Given the description of an element on the screen output the (x, y) to click on. 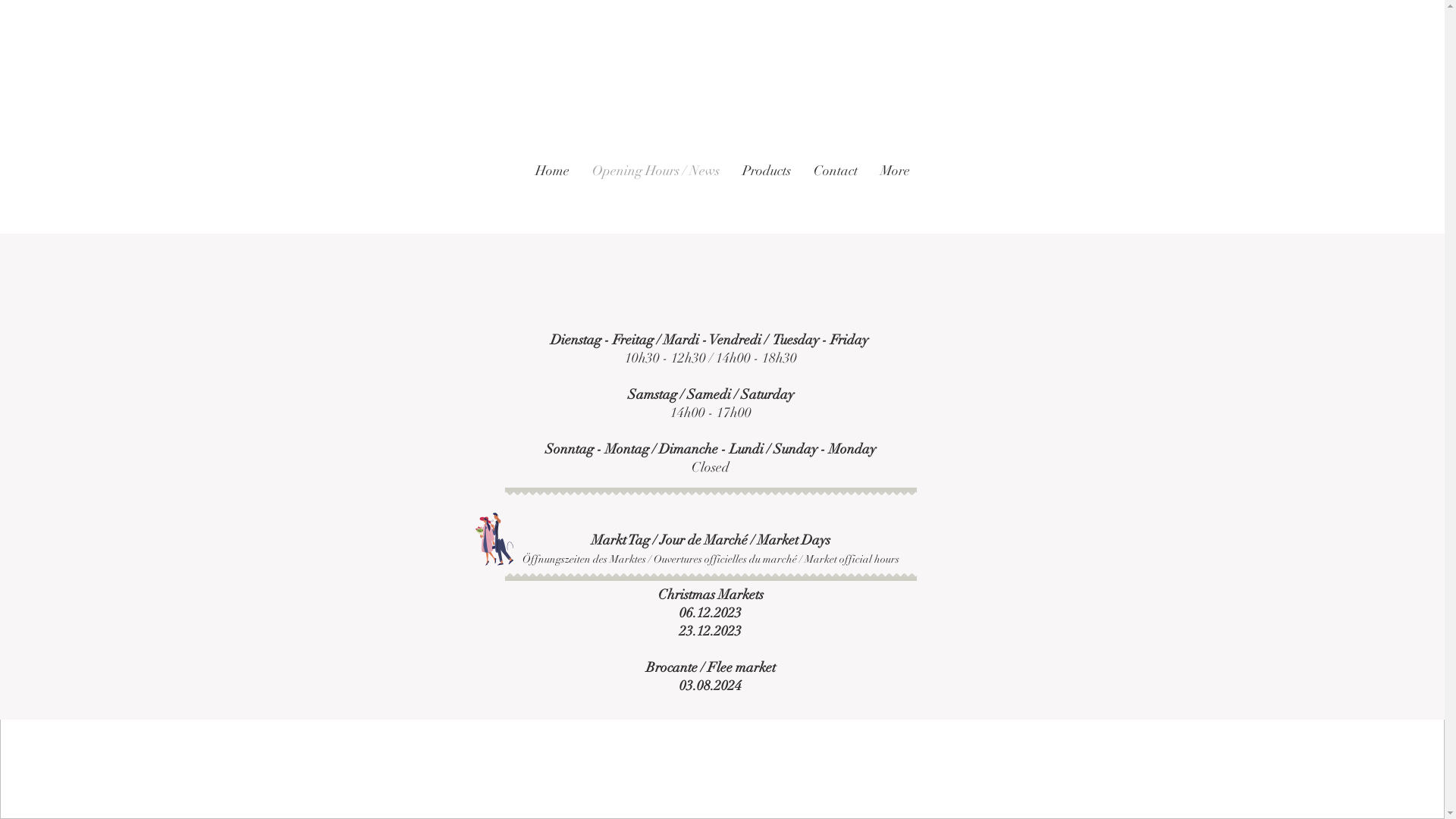
Opening Hours / News Element type: text (655, 194)
Contact Element type: text (835, 194)
Products Element type: text (766, 194)
Home Element type: text (551, 194)
